Given the description of an element on the screen output the (x, y) to click on. 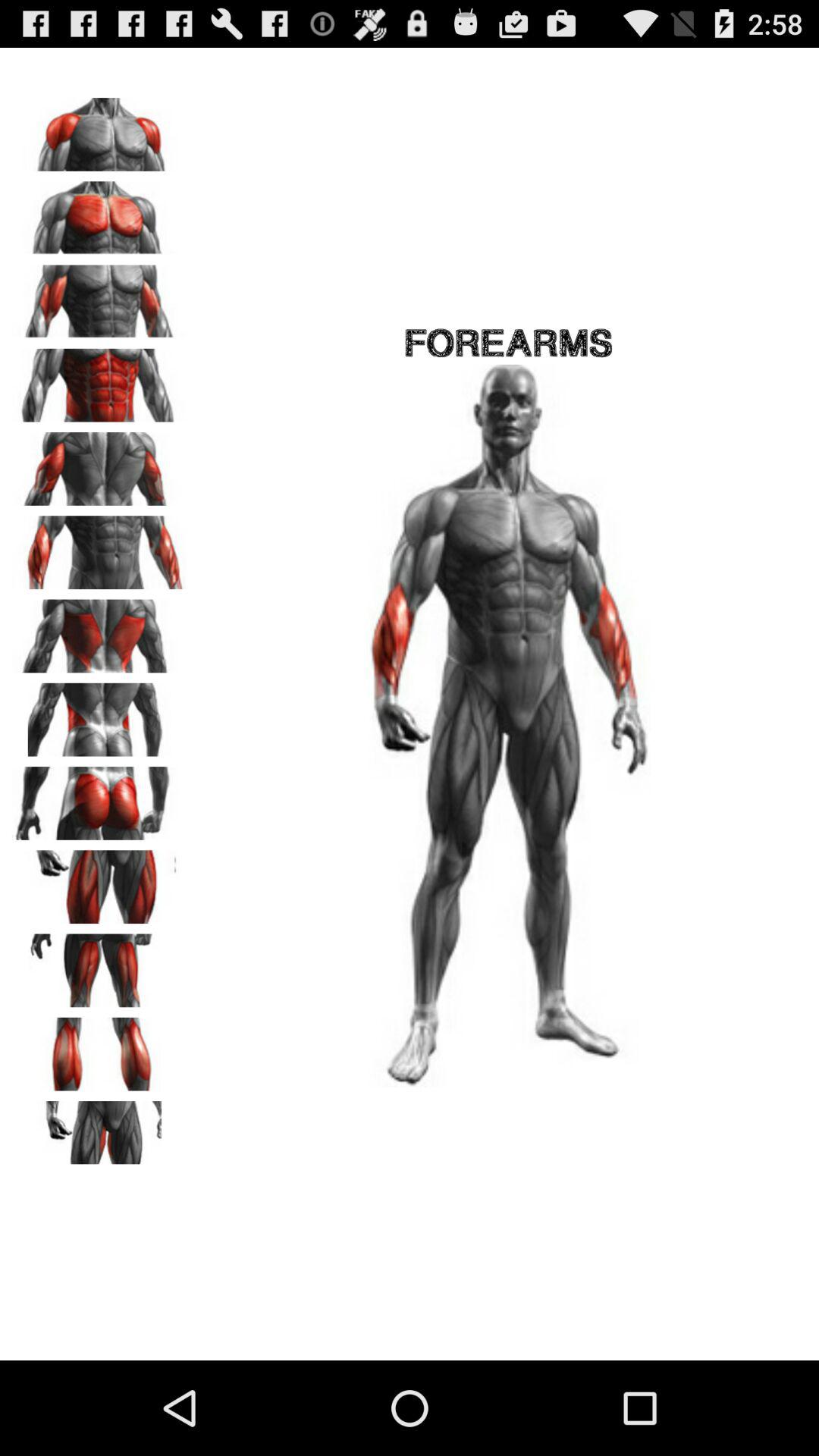
share the article (99, 1132)
